Given the description of an element on the screen output the (x, y) to click on. 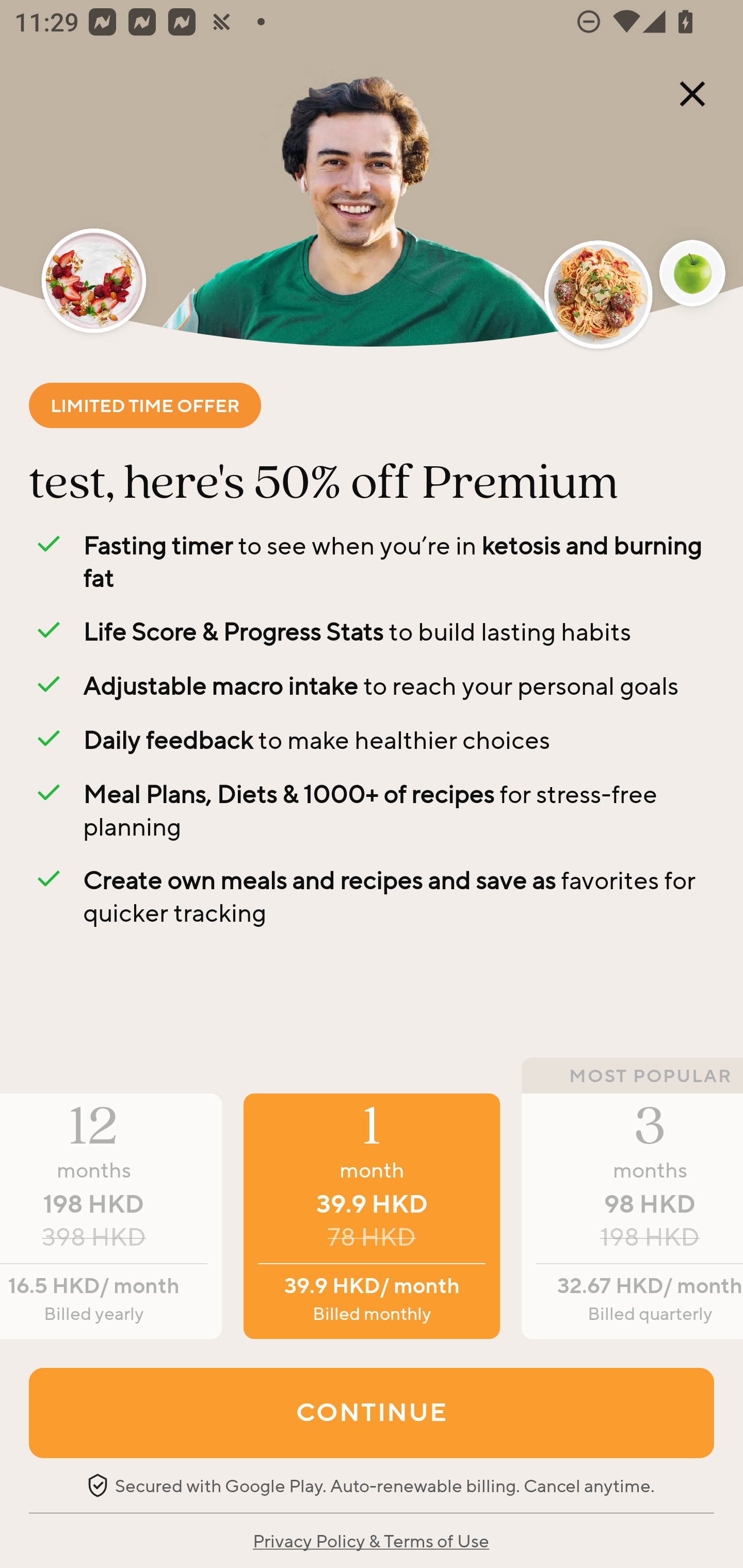
CONTINUE (371, 1412)
Privacy Policy & Terms of Use (370, 1540)
